Given the description of an element on the screen output the (x, y) to click on. 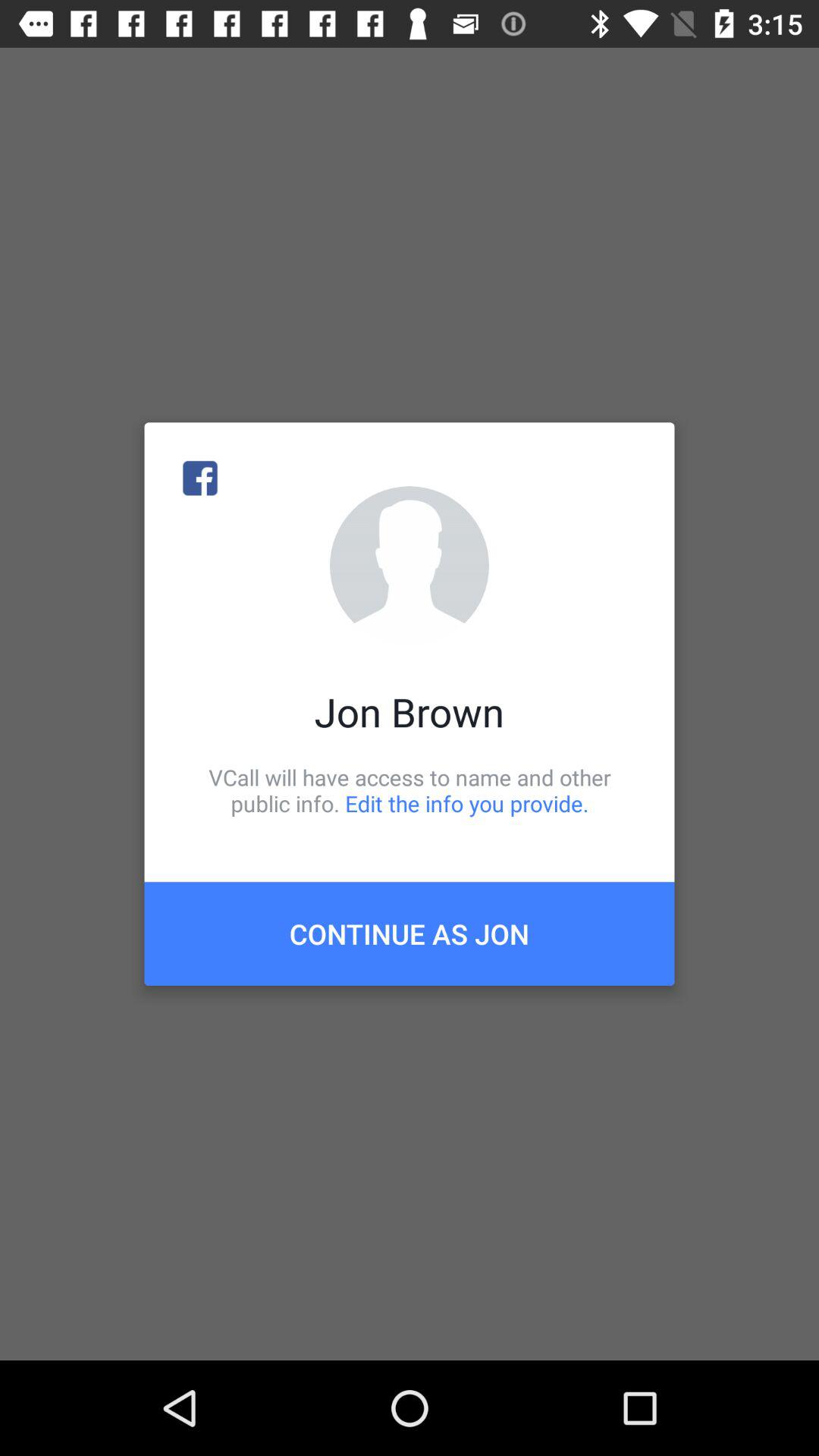
open the item below the vcall will have item (409, 933)
